Given the description of an element on the screen output the (x, y) to click on. 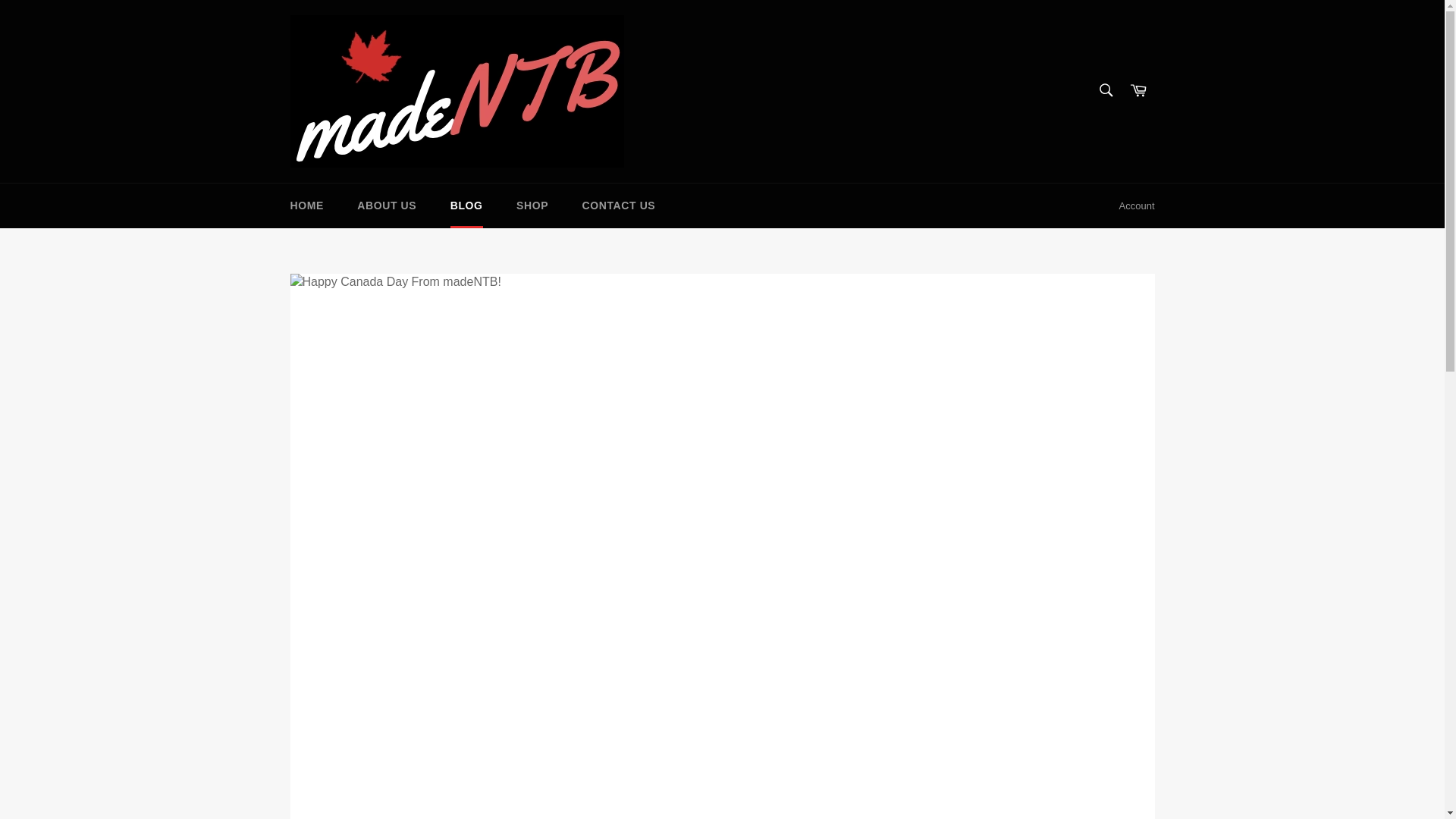
CONTACT US (619, 205)
Search (1104, 90)
ABOUT US (386, 205)
Account (1136, 206)
SHOP (531, 205)
HOME (306, 205)
BLOG (466, 205)
Cart (1138, 91)
